Given the description of an element on the screen output the (x, y) to click on. 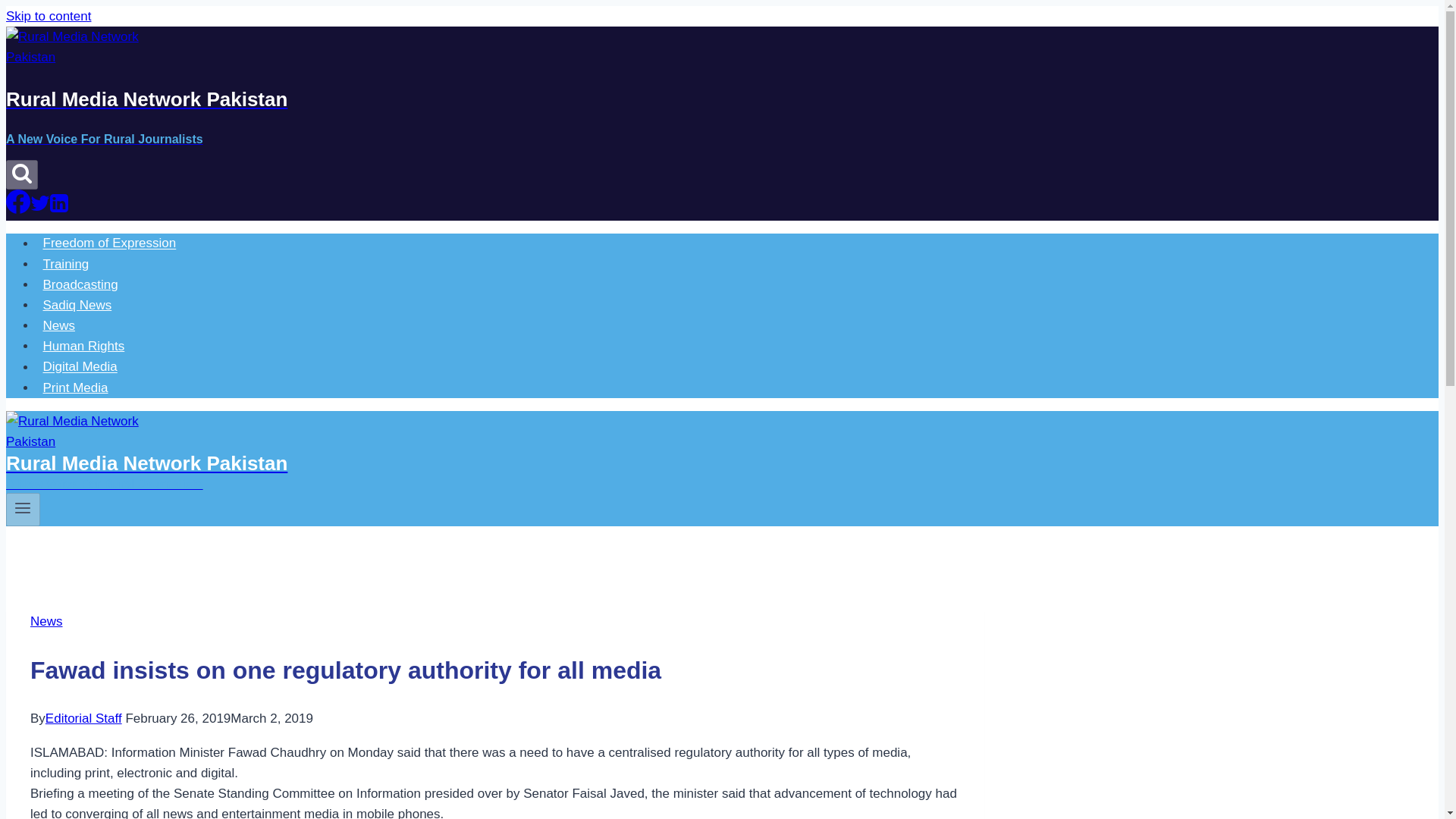
News (58, 325)
Toggle Menu (22, 509)
Human Rights (83, 346)
Skip to content (47, 16)
Facebook (17, 201)
Freedom of Expression (109, 242)
Facebook (17, 209)
News (46, 621)
Broadcasting (79, 284)
Search (21, 172)
Training (66, 264)
Search (21, 174)
Twitter (39, 202)
Print Media (75, 387)
